Given the description of an element on the screen output the (x, y) to click on. 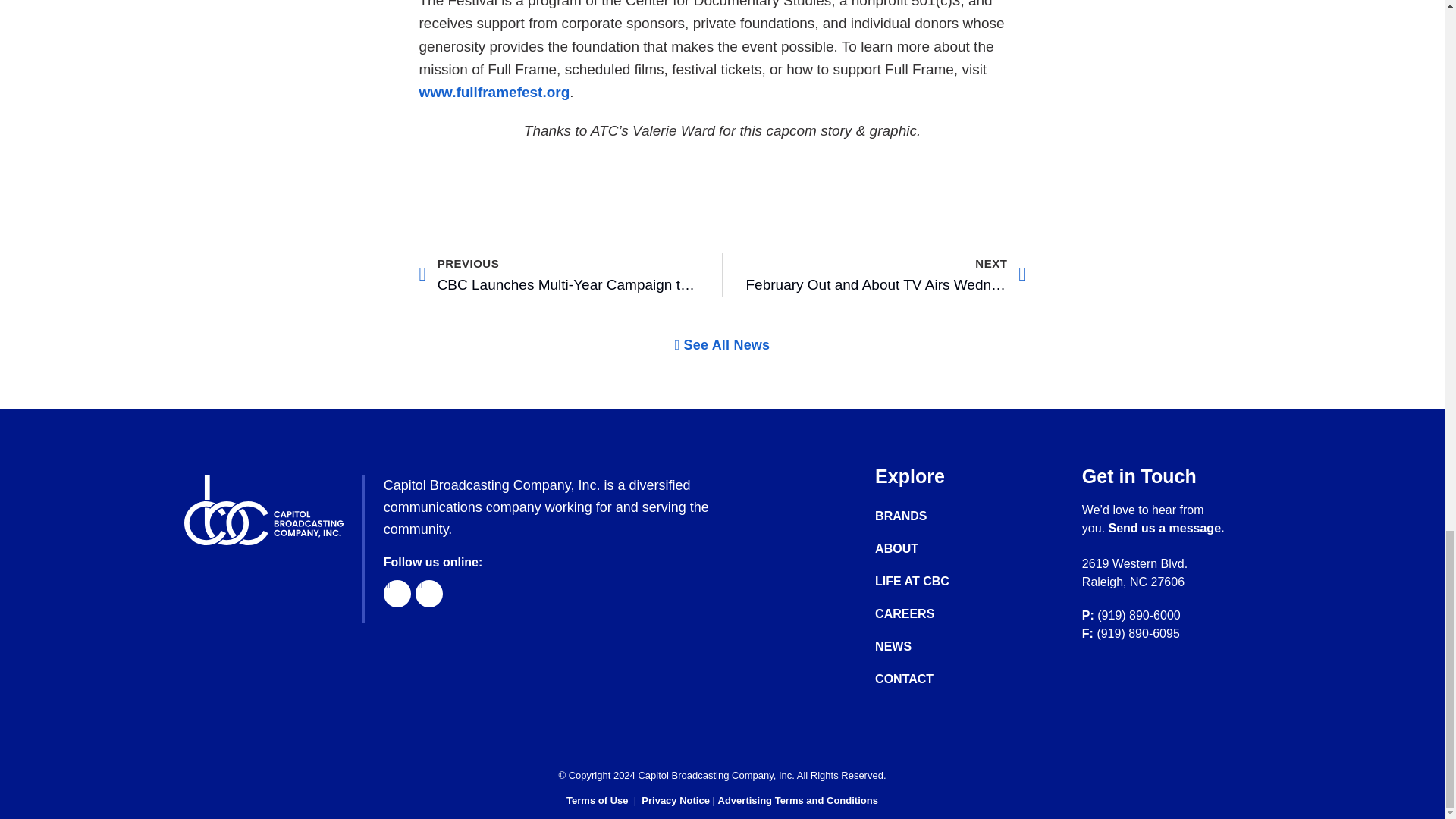
www.fullframefest.org (494, 91)
Send us a message. (1166, 527)
ABOUT (926, 548)
Terms of Use (596, 799)
BRANDS (926, 516)
See All News (722, 345)
LIFE AT CBC (926, 581)
NEWS (926, 646)
CAREERS (926, 613)
